Given the description of an element on the screen output the (x, y) to click on. 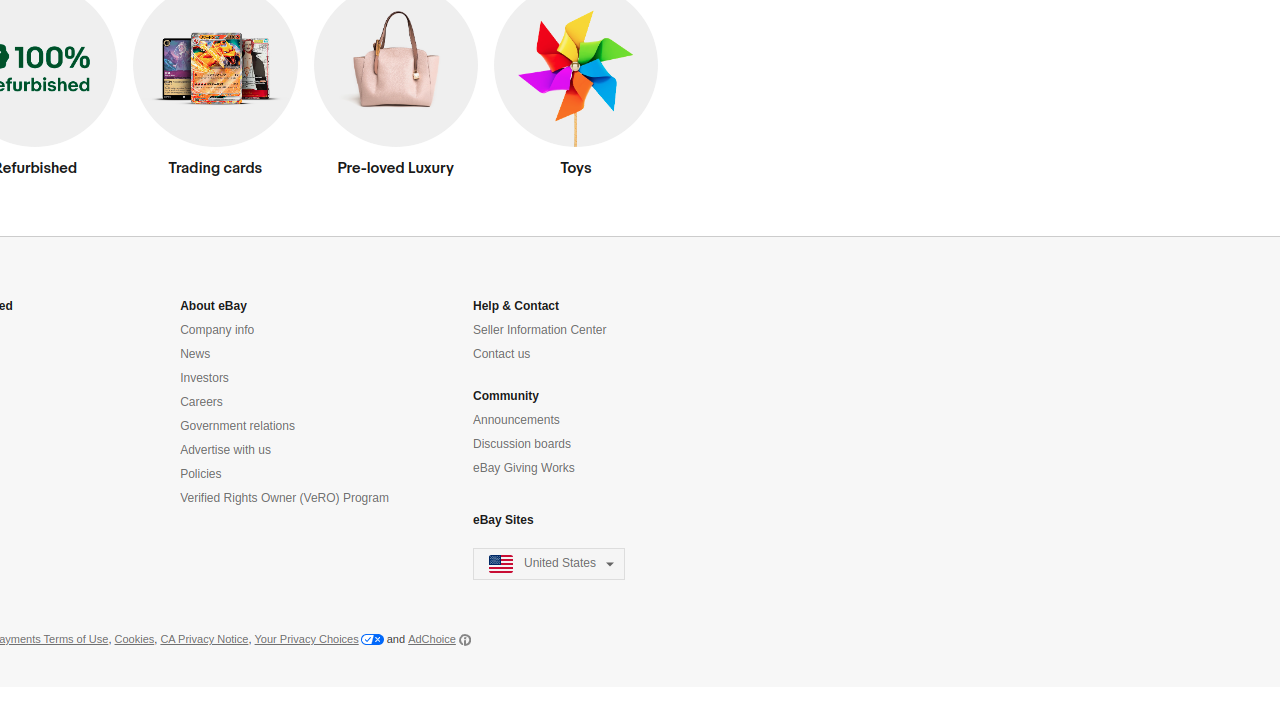
Cookies Element type: link (134, 640)
Your Privacy Choices Element type: link (319, 640)
Community Element type: link (506, 396)
Seller Information Center Element type: link (540, 330)
Company info Element type: link (217, 330)
